Given the description of an element on the screen output the (x, y) to click on. 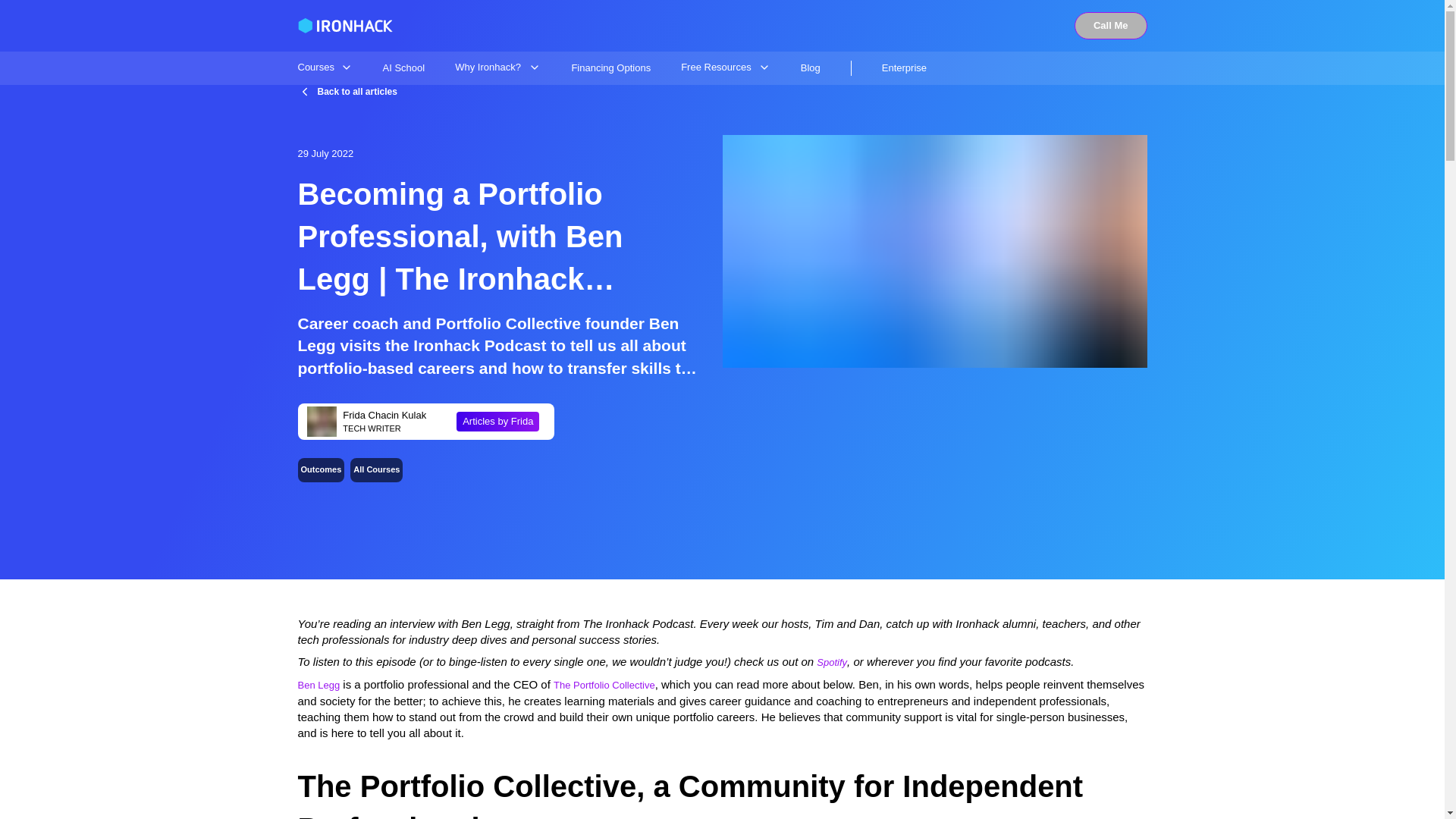
Back to all articles (346, 91)
Call Me (1110, 25)
Enterprise (904, 68)
Financing Options (610, 68)
AI School (403, 68)
Blog (810, 68)
Articles by Frida (497, 421)
